Given the description of an element on the screen output the (x, y) to click on. 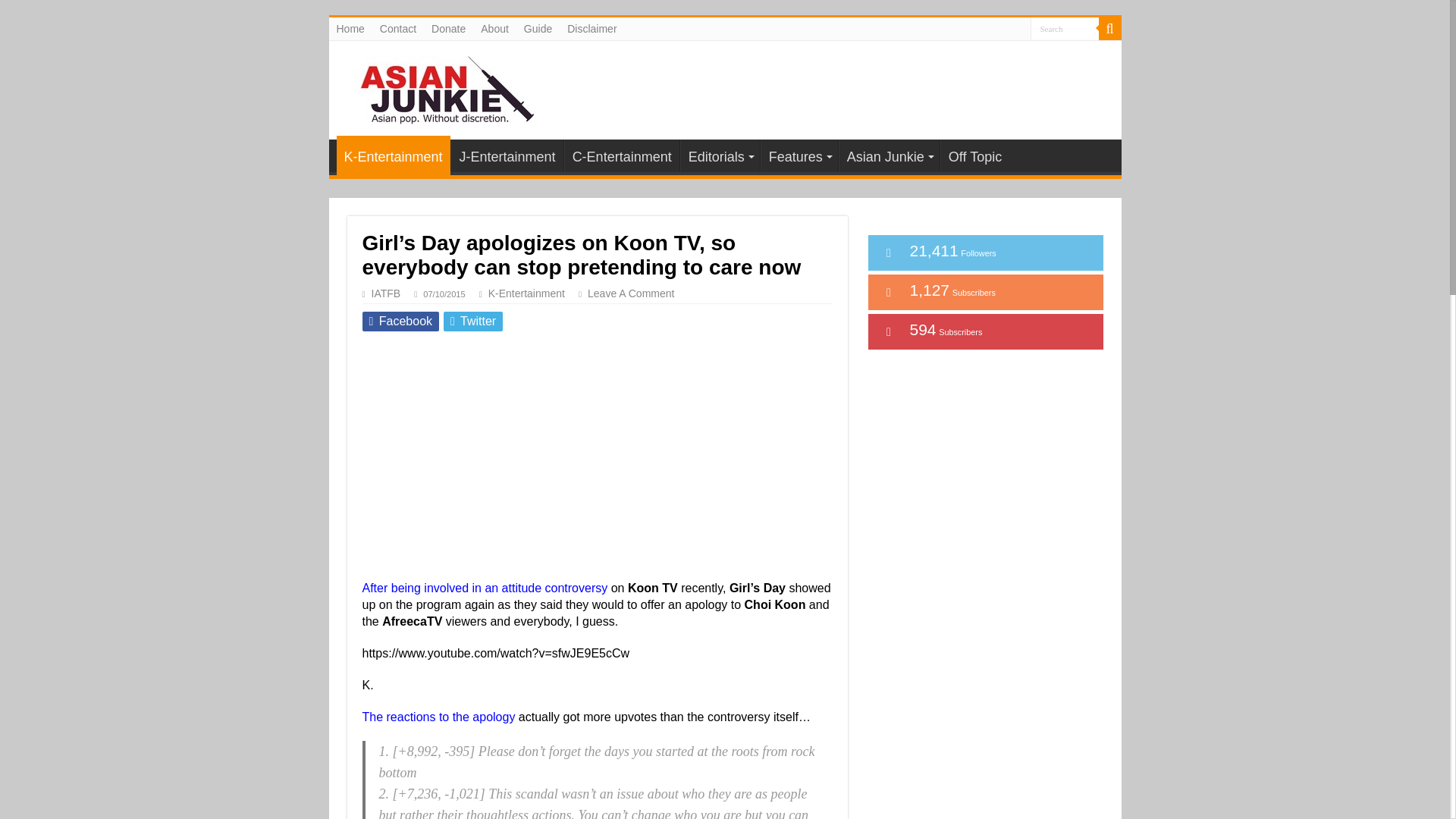
Search (1063, 28)
IATFB (386, 293)
After being involved in an attitude controversy (485, 587)
Disclaimer (591, 28)
K-Entertainment (392, 155)
Twitter (473, 321)
Search (1063, 28)
Search (1109, 28)
K-Entertainment (525, 293)
Donate (448, 28)
Leave A Comment (636, 293)
Facebook (400, 321)
Asian Junkie (438, 86)
C-Entertainment (621, 155)
